Given the description of an element on the screen output the (x, y) to click on. 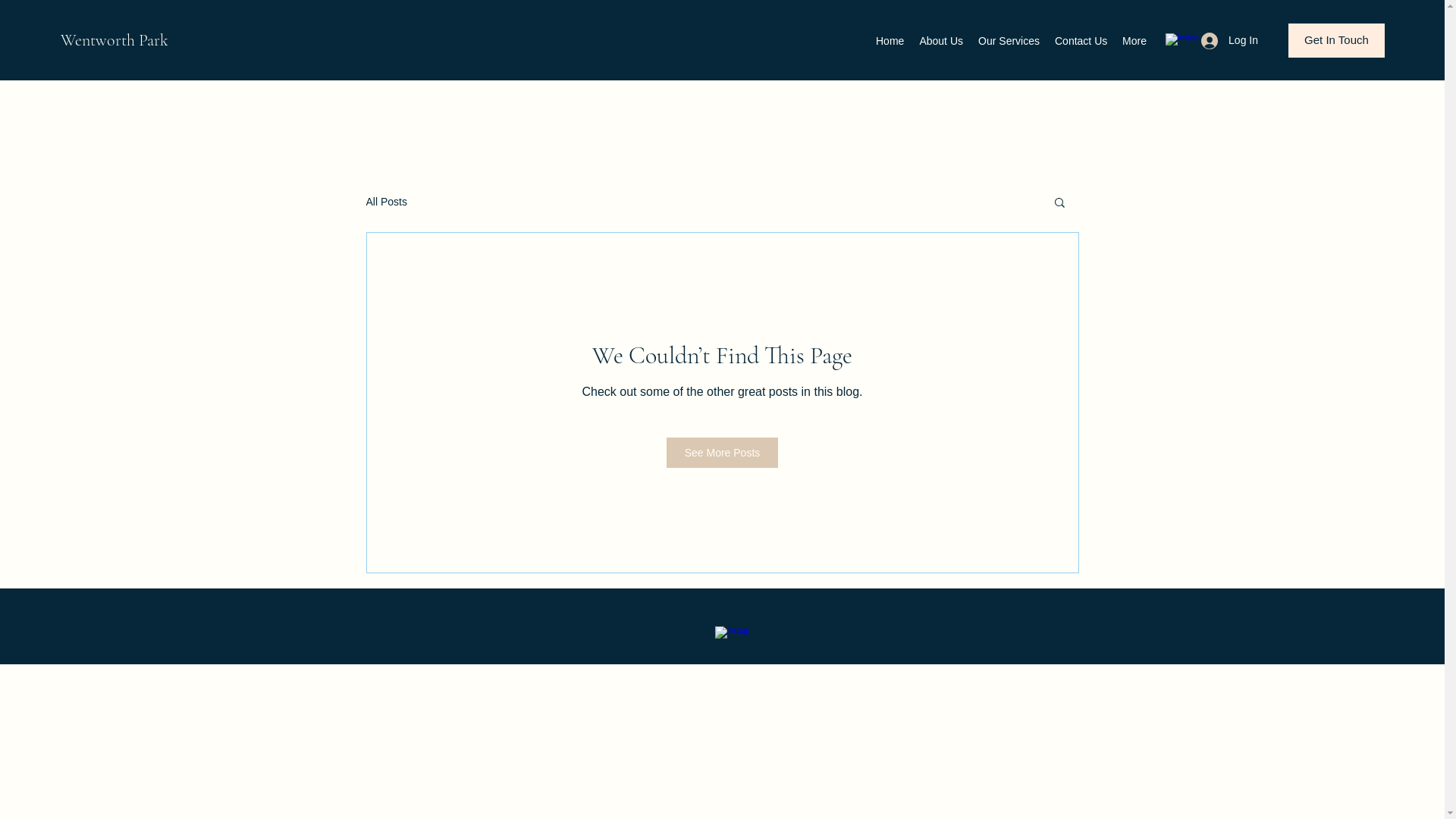
See More Posts Element type: text (722, 452)
All Posts Element type: text (385, 201)
Contact Us Element type: text (1080, 40)
Home Element type: text (889, 40)
Get In Touch Element type: text (1336, 40)
Wentworth Park Element type: text (114, 40)
About Us Element type: text (940, 40)
Our Services Element type: text (1008, 40)
Log In Element type: text (1229, 40)
